Given the description of an element on the screen output the (x, y) to click on. 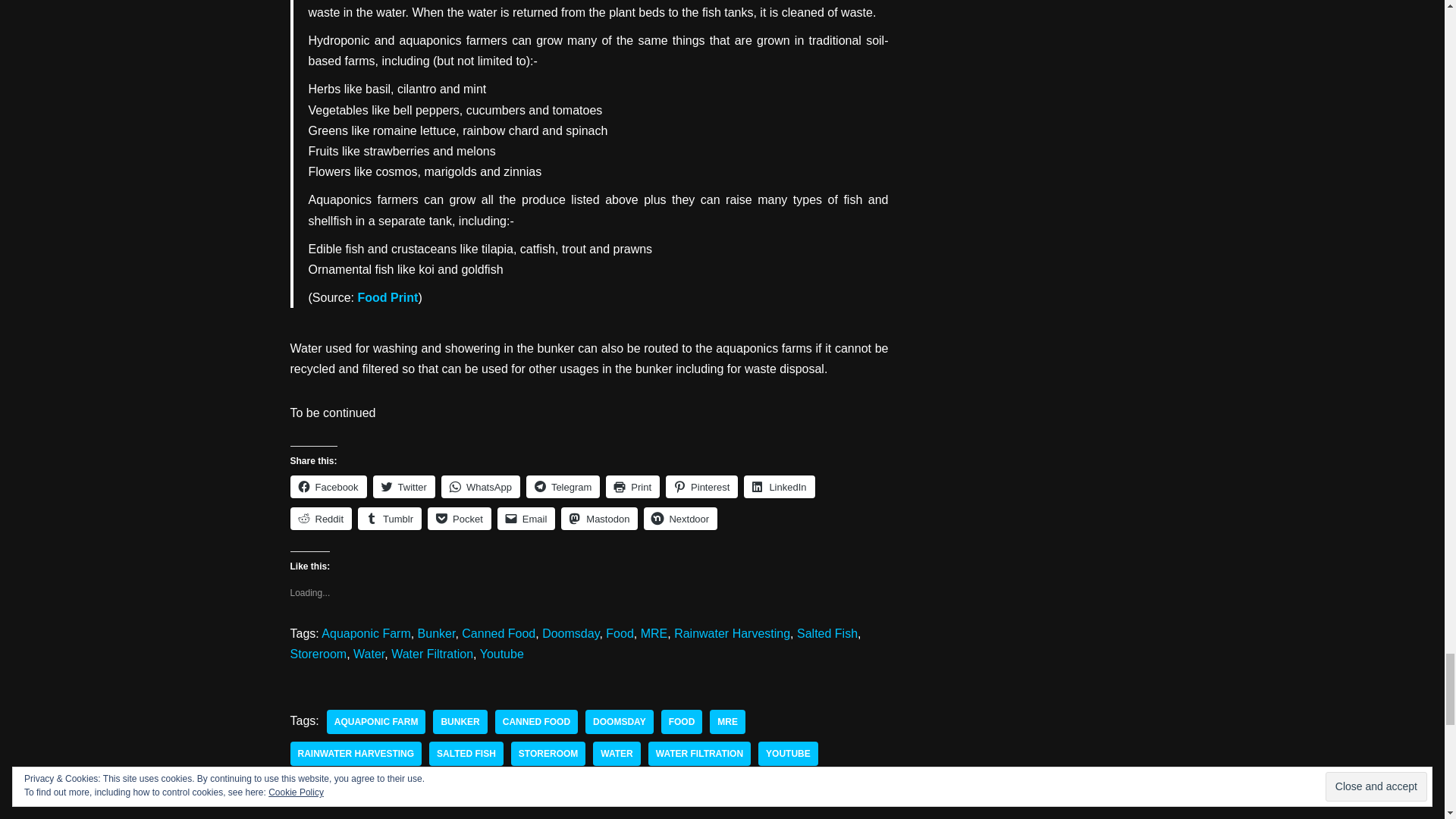
Click to share on Twitter (403, 486)
Click to share on Facebook (327, 486)
Click to share on Telegram (562, 486)
Click to share on WhatsApp (480, 486)
